Given the description of an element on the screen output the (x, y) to click on. 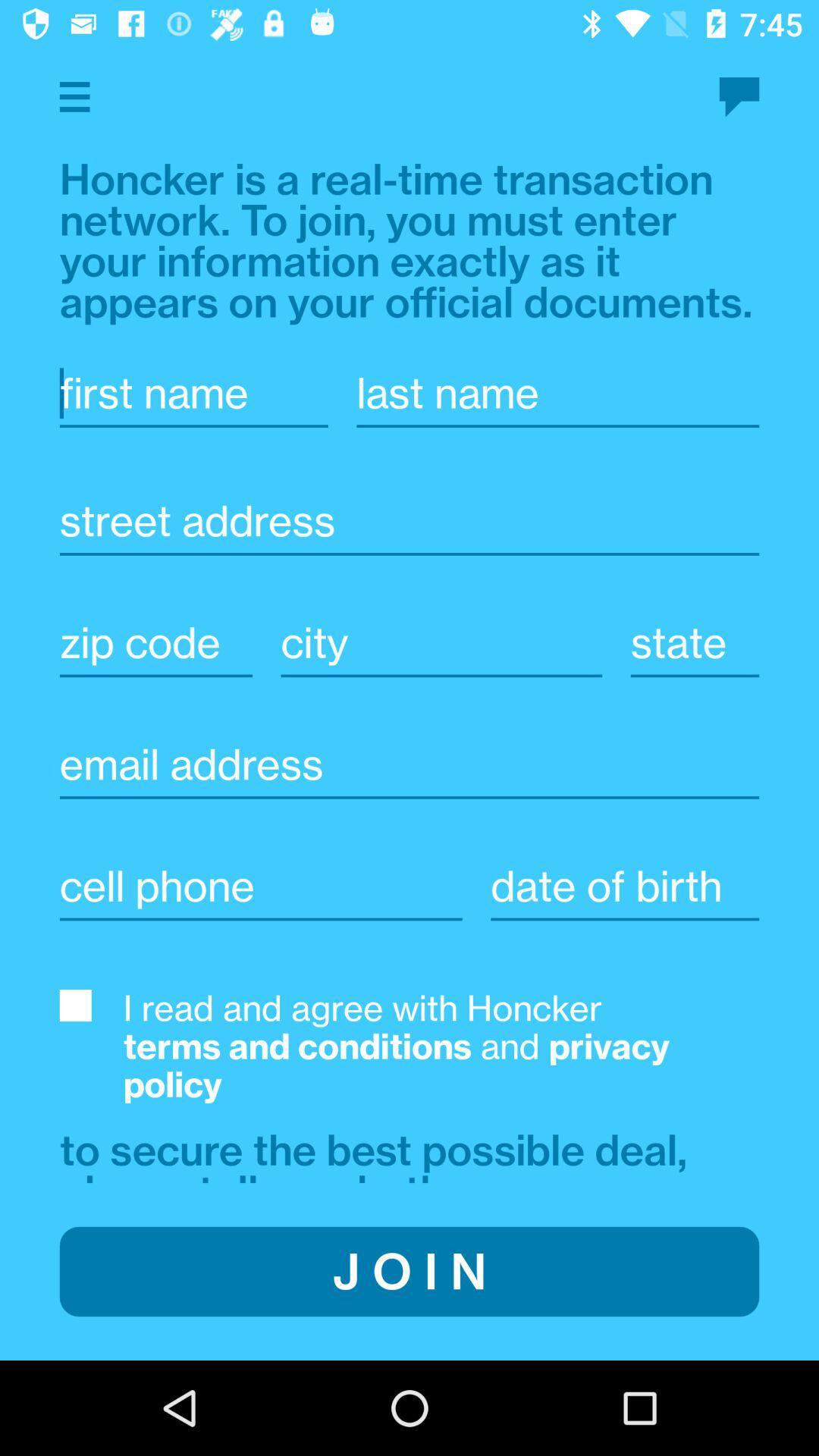
press the to secure the item (379, 1153)
